Given the description of an element on the screen output the (x, y) to click on. 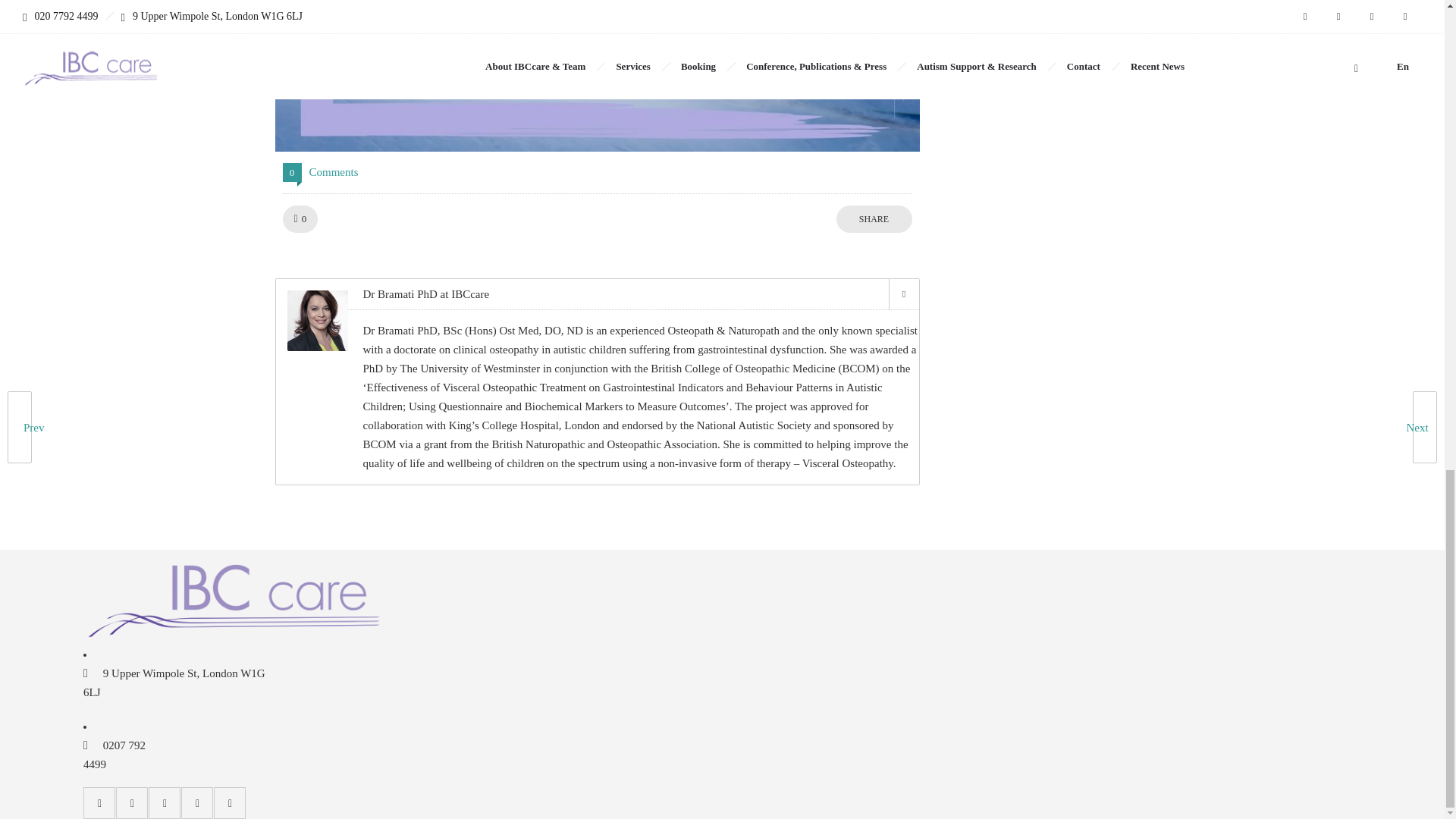
knee pain ibc care (596, 75)
IBCCARE-logo (234, 597)
Twitter (903, 294)
